Given the description of an element on the screen output the (x, y) to click on. 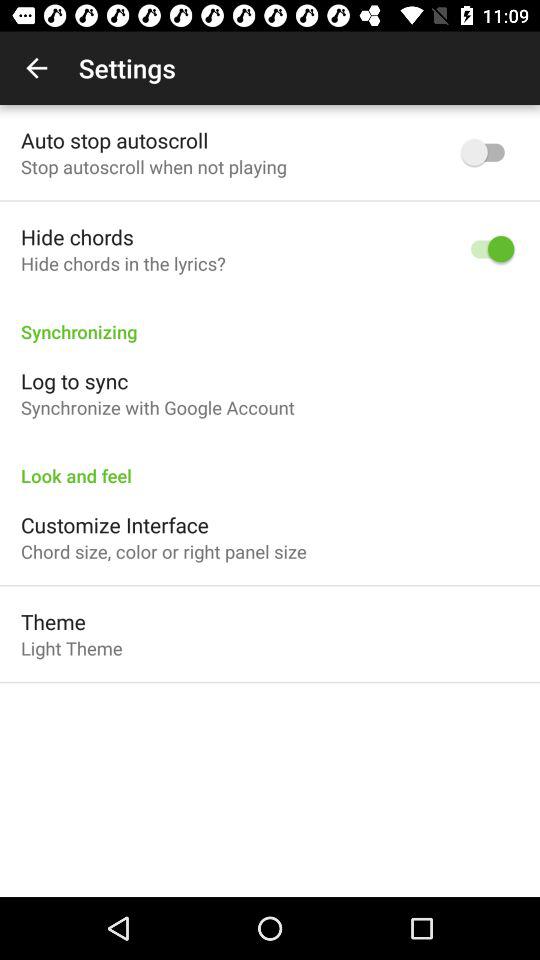
swipe until the look and feel icon (270, 465)
